Given the description of an element on the screen output the (x, y) to click on. 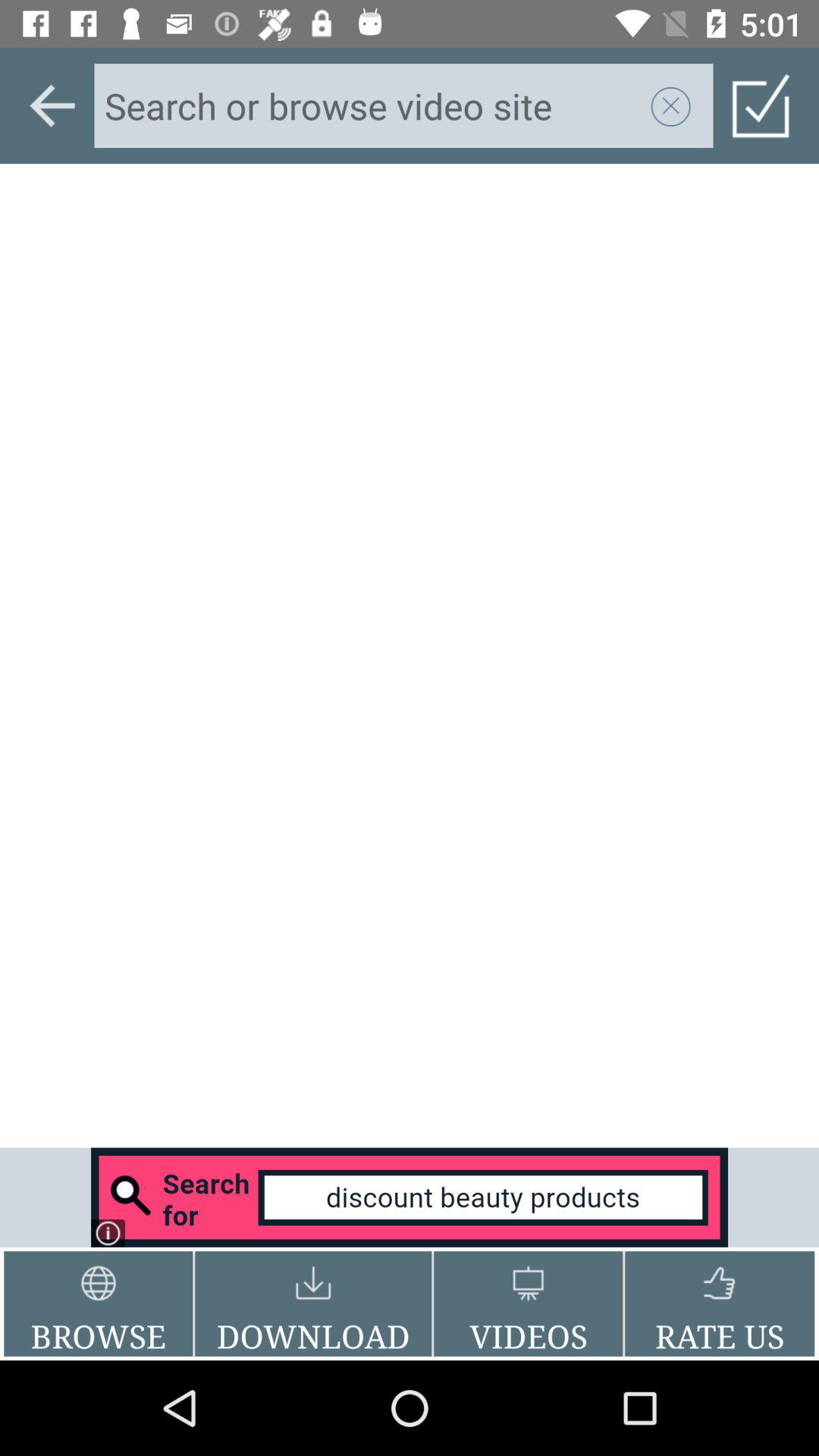
scroll until the browse item (97, 1303)
